Given the description of an element on the screen output the (x, y) to click on. 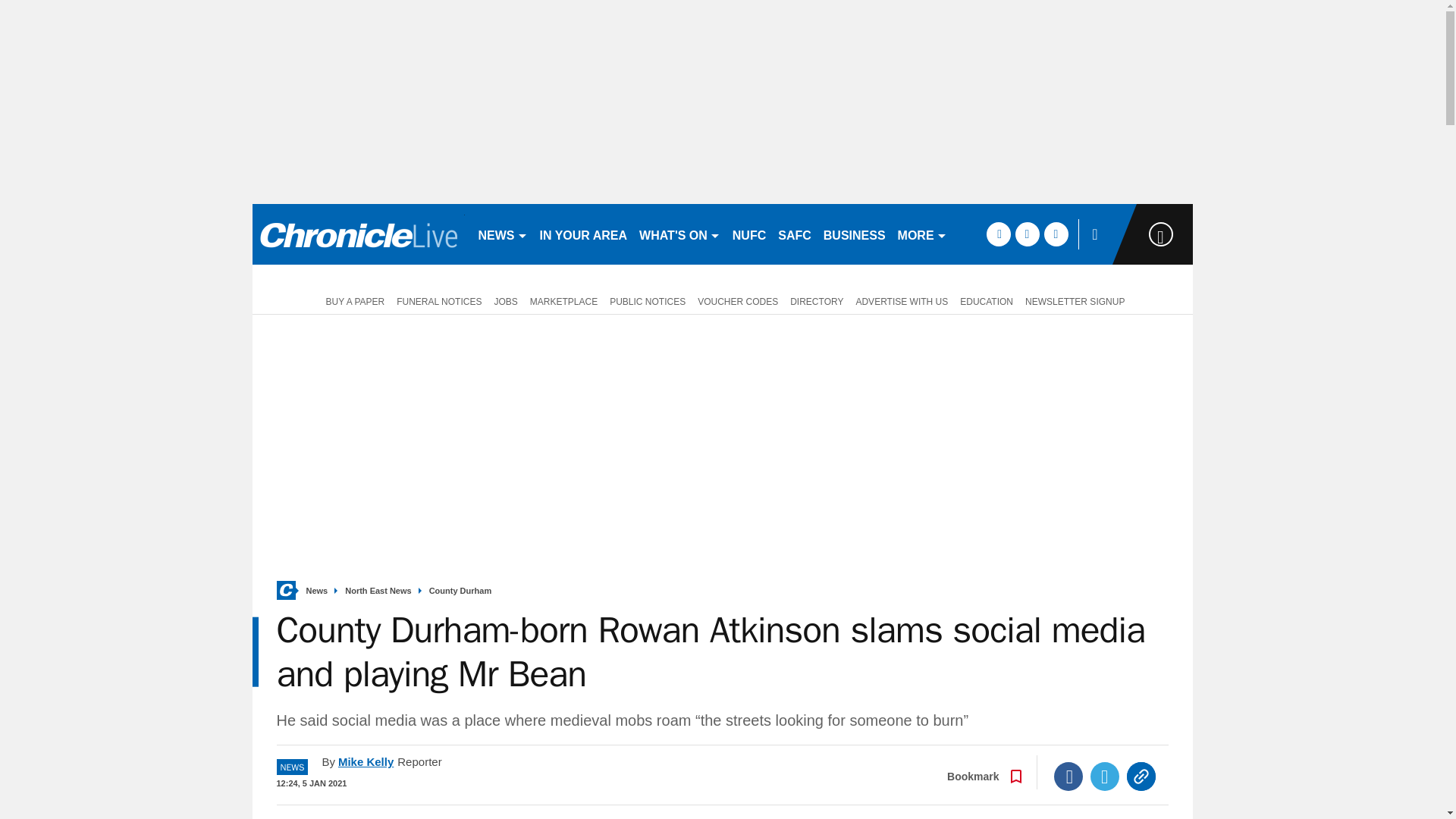
NEWS (501, 233)
facebook (997, 233)
twitter (1026, 233)
IN YOUR AREA (583, 233)
WHAT'S ON (679, 233)
MORE (922, 233)
Facebook (1068, 776)
BUSINESS (853, 233)
nechronicle (357, 233)
instagram (1055, 233)
